Given the description of an element on the screen output the (x, y) to click on. 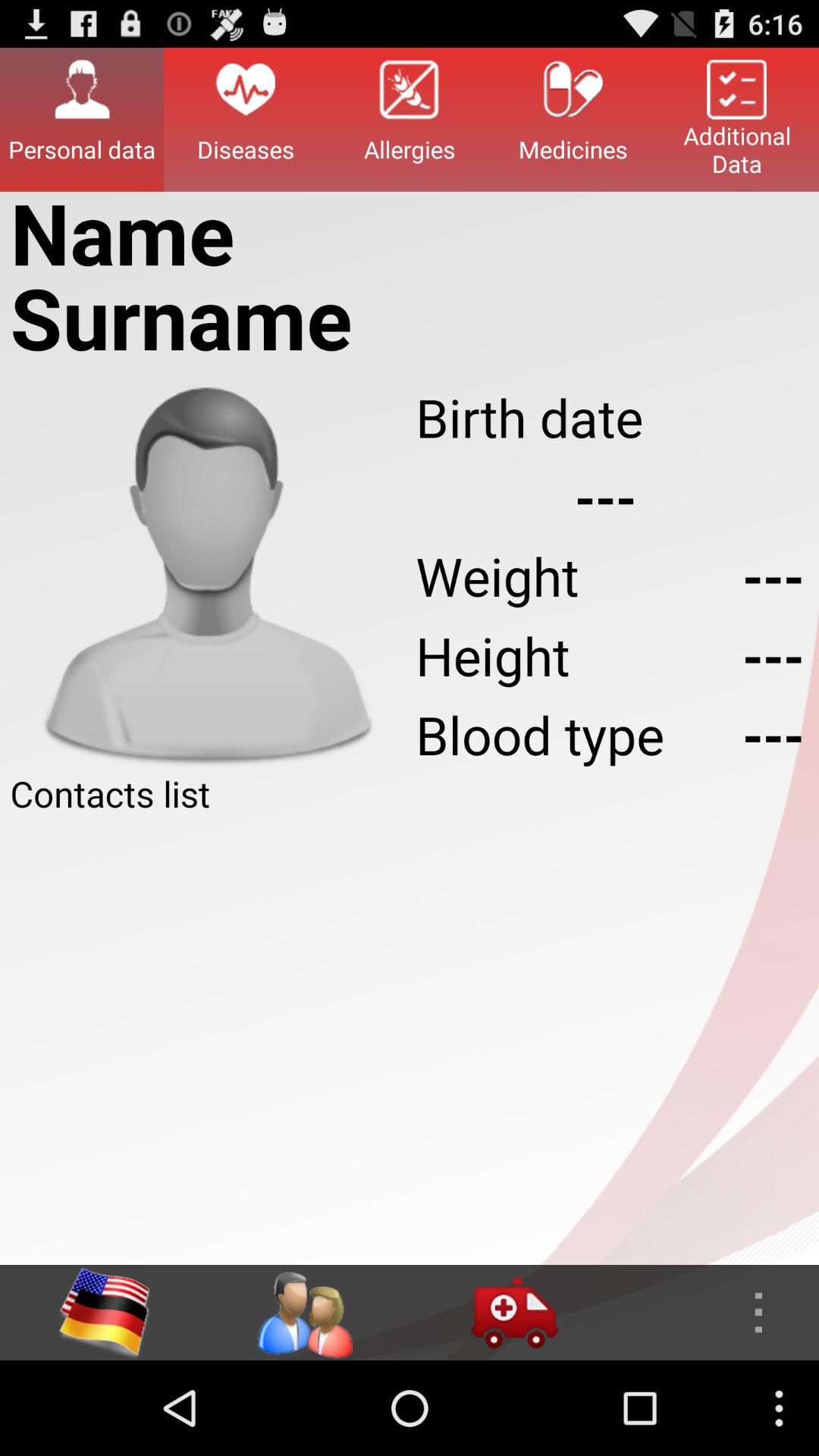
turn on the additional data icon (737, 119)
